Given the description of an element on the screen output the (x, y) to click on. 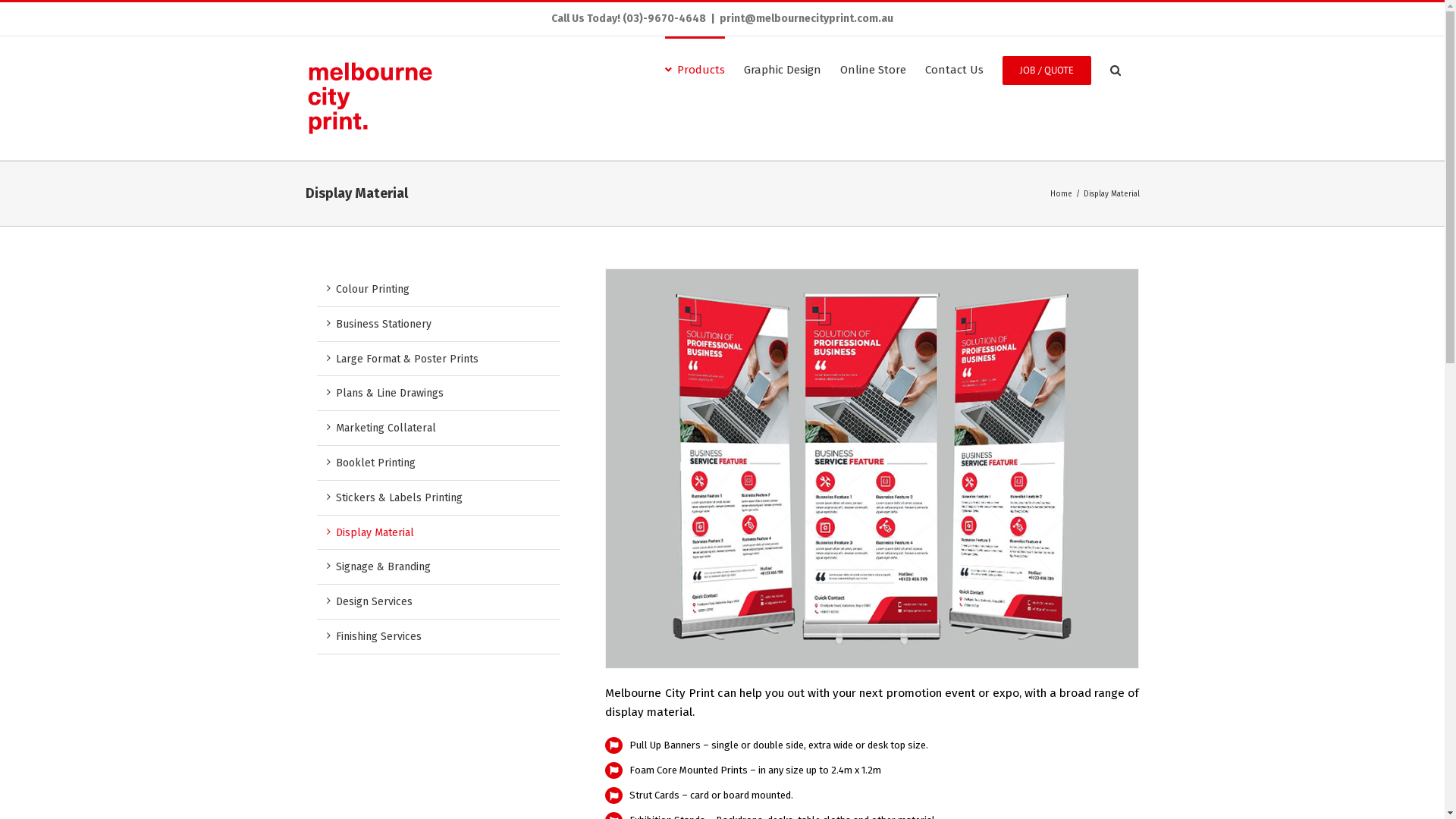
Colour Printing Element type: text (371, 288)
Online Store Element type: text (873, 68)
Booklet Printing Element type: text (374, 462)
Products Element type: text (694, 68)
MCP_banners Element type: hover (871, 468)
print@melbournecityprint.com.au Element type: text (806, 18)
Home Element type: text (1060, 193)
JOB / QUOTE Element type: text (1046, 68)
Business Stationery Element type: text (382, 323)
Plans & Line Drawings Element type: text (388, 392)
Stickers & Labels Printing Element type: text (398, 497)
Display Material Element type: text (374, 532)
Finishing Services Element type: text (377, 636)
Signage & Branding Element type: text (382, 566)
Contact Us Element type: text (954, 68)
Large Format & Poster Prints Element type: text (406, 358)
Design Services Element type: text (373, 601)
Marketing Collateral Element type: text (385, 427)
Graphic Design Element type: text (781, 68)
Search Element type: hover (1115, 68)
